Given the description of an element on the screen output the (x, y) to click on. 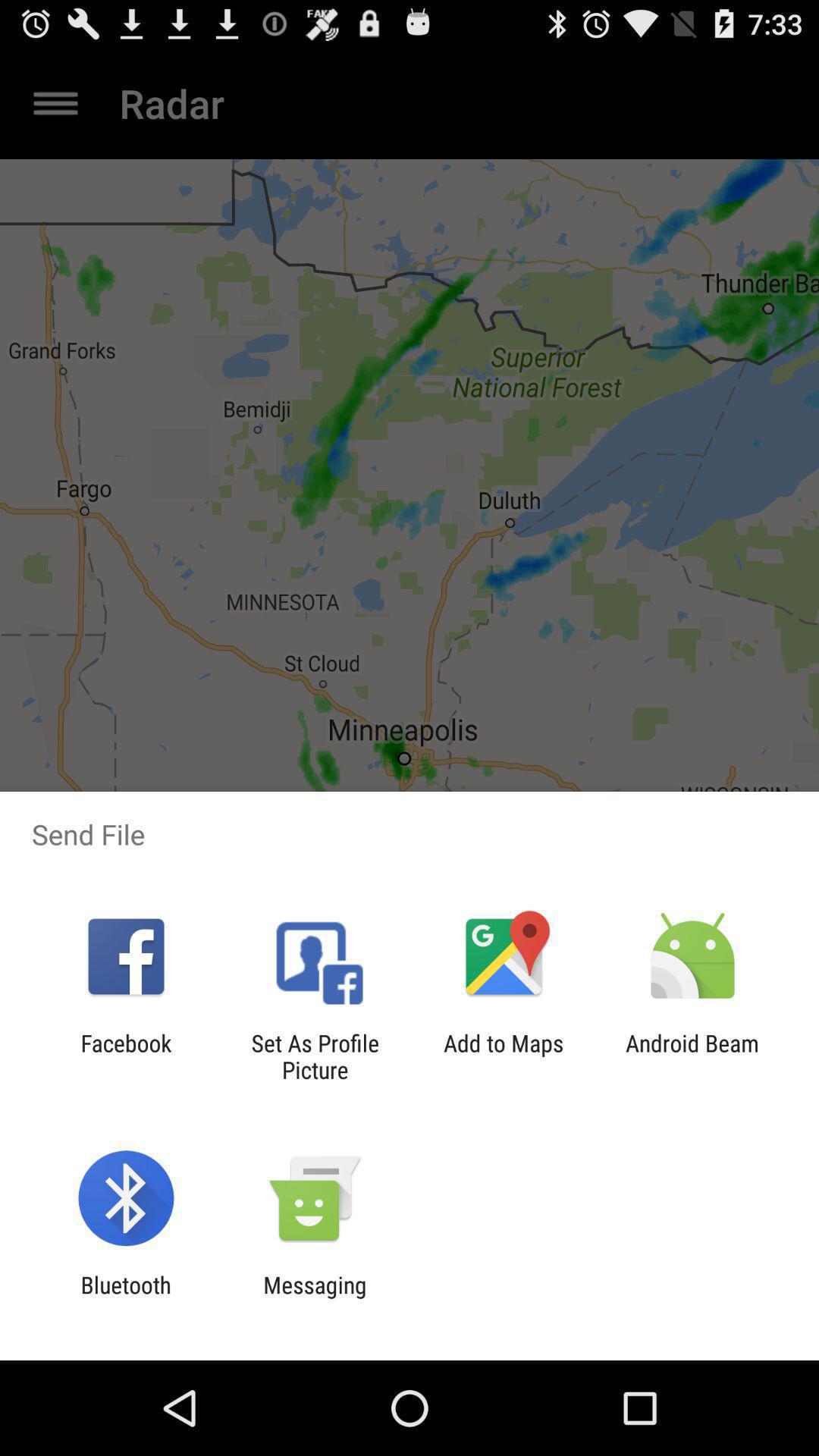
click icon to the left of the set as profile app (125, 1056)
